Given the description of an element on the screen output the (x, y) to click on. 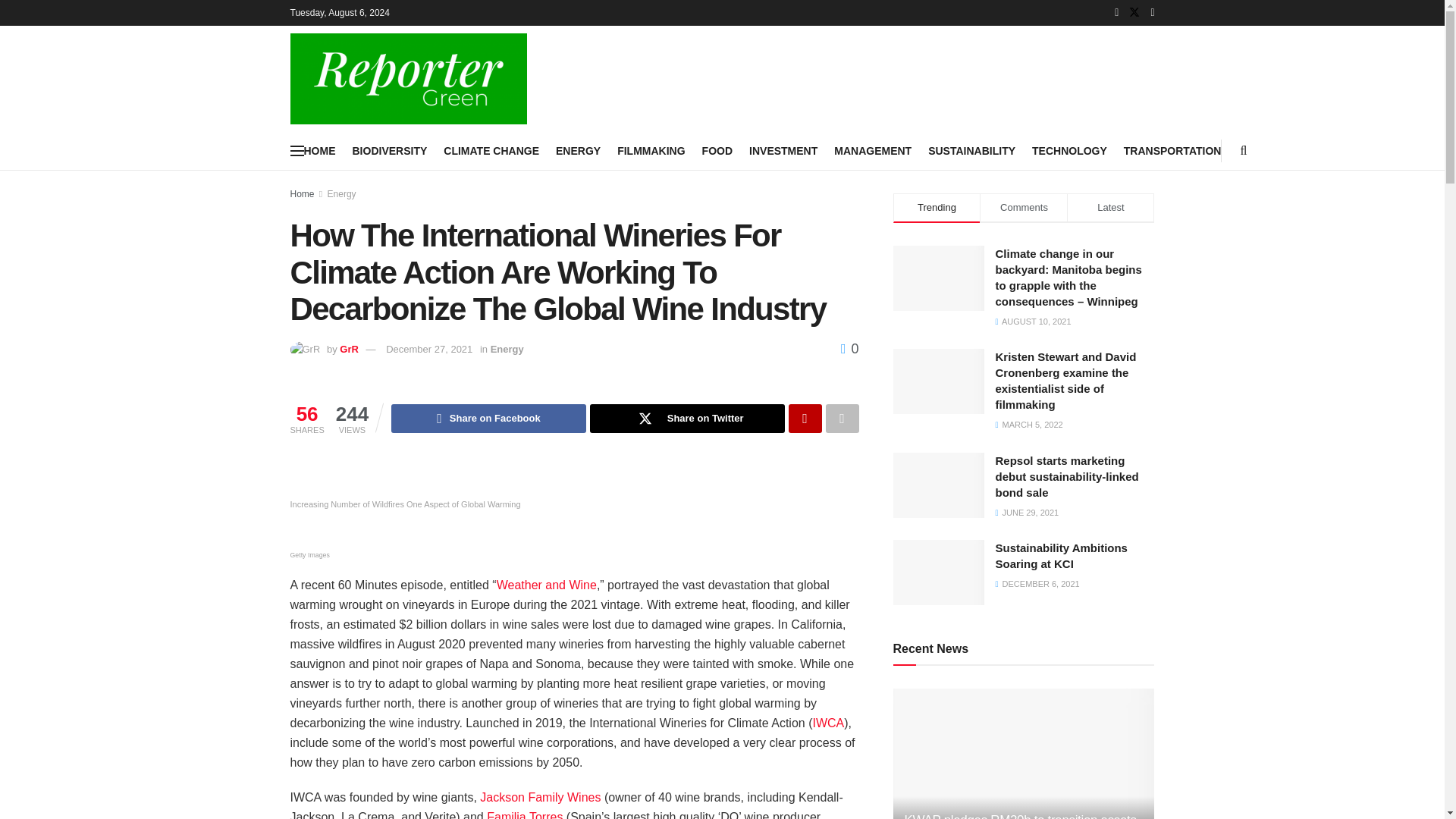
CLIMATE CHANGE (491, 150)
BIODIVERSITY (389, 150)
Energy (341, 194)
FILMMAKING (650, 150)
FOOD (716, 150)
TRANSPORTATION (1172, 150)
INVESTMENT (782, 150)
December 27, 2021 (428, 348)
Home (301, 194)
MANAGEMENT (872, 150)
HOME (318, 150)
TECHNOLOGY (1069, 150)
ENERGY (577, 150)
SUSTAINABILITY (971, 150)
GrR (348, 348)
